Given the description of an element on the screen output the (x, y) to click on. 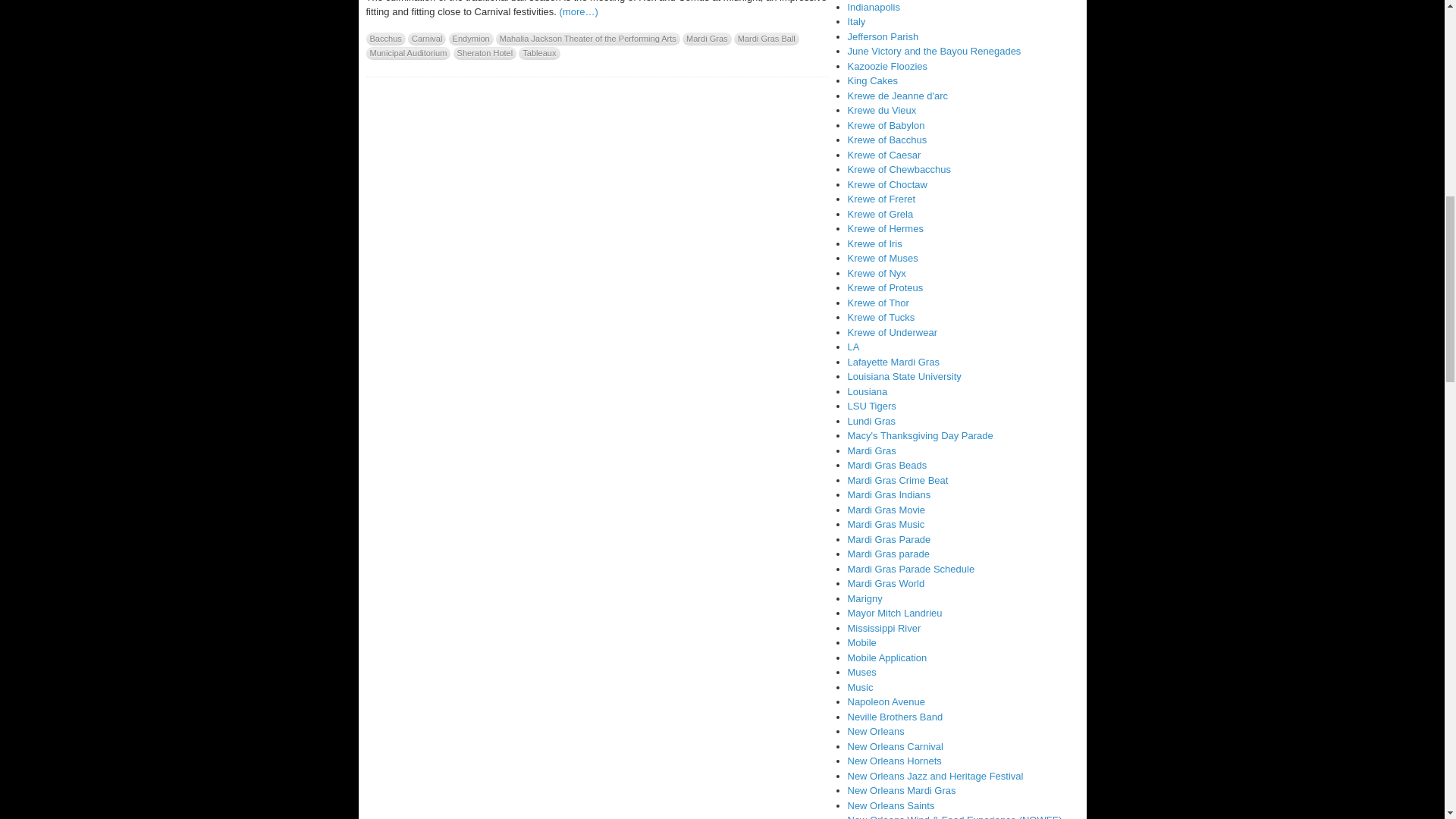
Tableaux (538, 52)
Endymion (470, 38)
Bacchus (384, 38)
Mardi Gras Ball (766, 38)
Municipal Auditorium (407, 52)
Mardi Gras (707, 38)
Sheraton Hotel (484, 52)
Mahalia Jackson Theater of the Performing Arts (587, 38)
Carnival (426, 38)
